Given the description of an element on the screen output the (x, y) to click on. 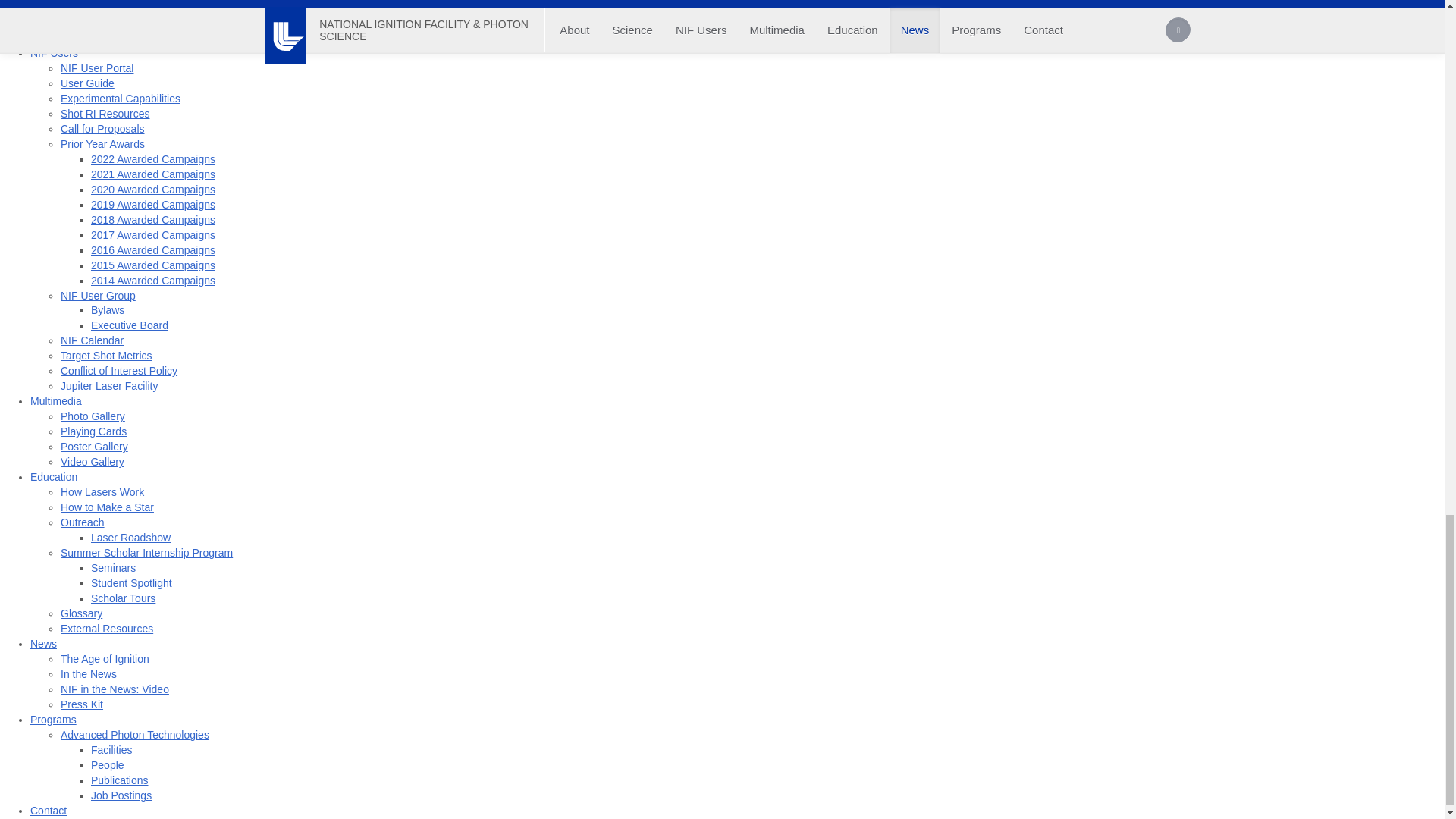
How to Make a Star (107, 507)
External Resources (106, 628)
News Media Stories About NIF (88, 674)
NIF's Guide to How Lasers Work (102, 491)
